Given the description of an element on the screen output the (x, y) to click on. 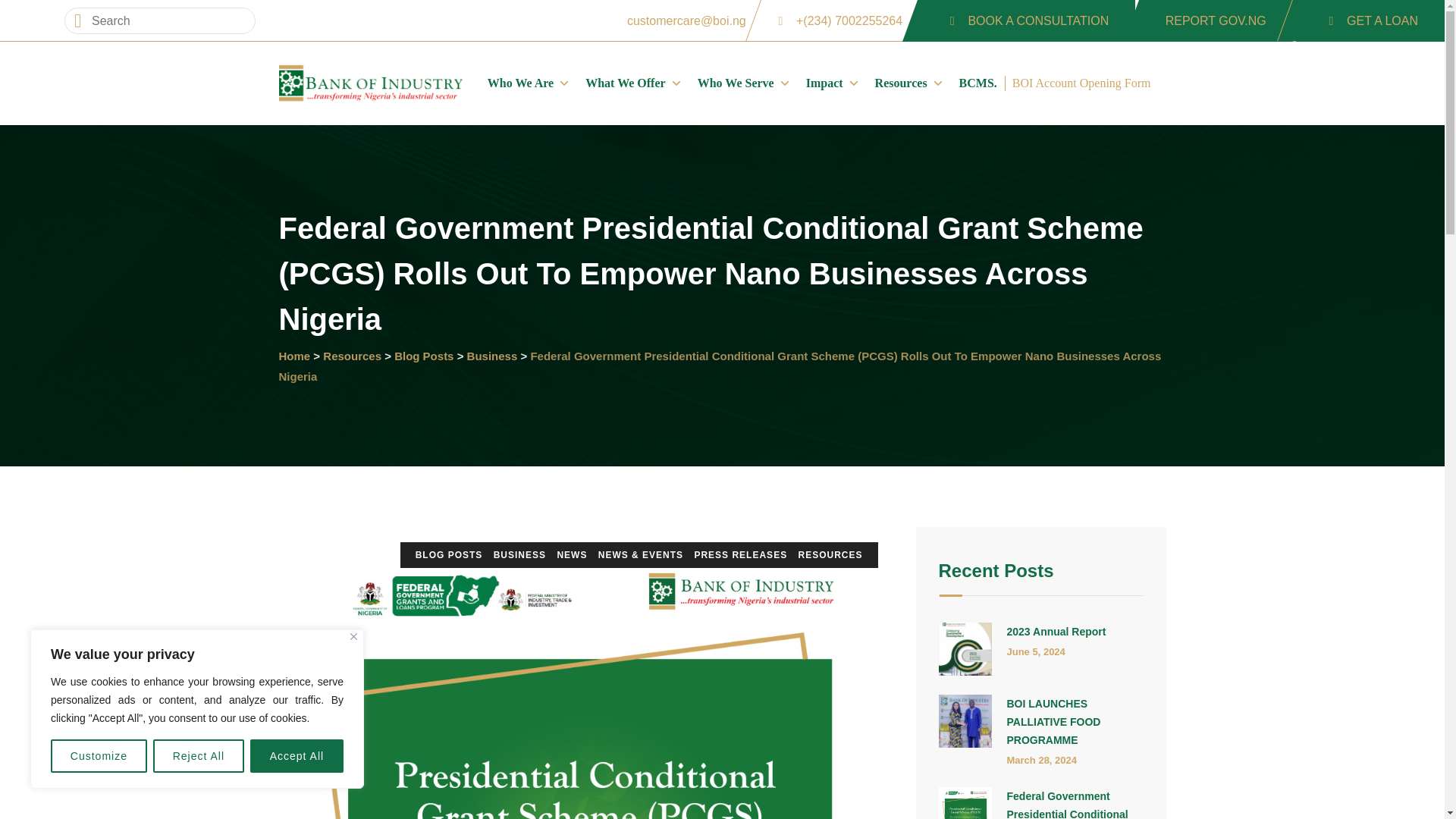
Customize (98, 756)
Go to Home. (295, 354)
BOOK A CONSULTATION (1026, 20)
GET A LOAN (1369, 20)
Go to the Blog Posts Category archives. (423, 354)
REPORT GOV.NG (1215, 20)
Home (371, 83)
Go to the Resources Category archives. (352, 354)
Who We Are (529, 83)
Accept All (296, 756)
Go to the Business Category archives. (492, 354)
Search (48, 13)
Reject All (198, 756)
